Given the description of an element on the screen output the (x, y) to click on. 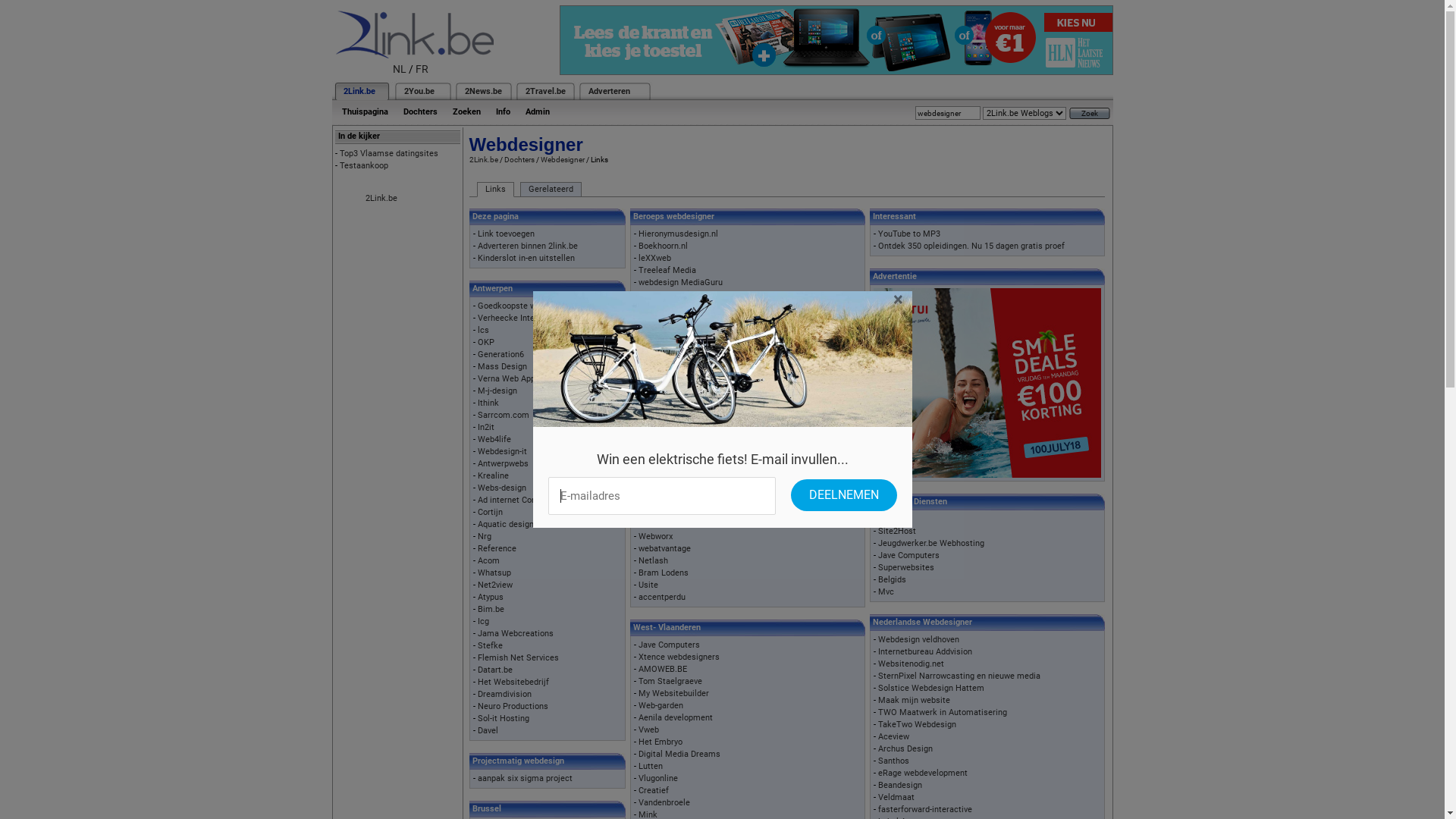
TWO Maatwerk in Automatisering Element type: text (942, 712)
Treeleaf Media Element type: text (667, 270)
Acom Element type: text (488, 560)
Ad internet Consulting Element type: text (519, 500)
2You.be Element type: text (418, 91)
webdesign MediaGuru Element type: text (680, 282)
Digital Media Dreams Element type: text (679, 754)
2News.be Element type: text (482, 91)
Neuro Productions Element type: text (512, 706)
Whatsup Element type: text (494, 572)
Aquatic design Element type: text (505, 524)
Generation6 Element type: text (500, 354)
Cortijn Element type: text (489, 512)
Gerelateerd Element type: text (550, 189)
Vandenbroele Element type: text (664, 802)
In2it Element type: text (485, 427)
AMOWEB.BE Element type: text (662, 669)
Original design Element type: text (666, 402)
Vweb Element type: text (648, 729)
Nrg Element type: text (484, 536)
Pixel Design Element type: text (661, 512)
Jeugdwerker.be Webhosting Element type: text (931, 543)
2Link.be Element type: text (358, 91)
Net2view Element type: text (494, 584)
Egonpas Element type: text (654, 500)
TakeTwo Webdesign Element type: text (917, 724)
Solstice Webdesign Hattem Element type: text (931, 688)
Web4life Element type: text (494, 439)
Goedkoopste website Element type: text (518, 305)
Agx Element type: text (645, 439)
2Travel.be Element type: text (544, 91)
Web-garden Element type: text (660, 705)
Bram Lodens Element type: text (663, 572)
Usite Element type: text (648, 584)
ZZP Webdesigner Element type: text (672, 294)
Zoek Element type: text (1089, 113)
Jere Element type: text (886, 519)
Top3 Vlaamse datingsites Element type: text (388, 153)
Aceview Element type: text (893, 736)
Webs-design Element type: text (501, 487)
SternPixel Narrowcasting en nieuwe media Element type: text (959, 675)
Antwerpwebs Element type: text (502, 463)
Reference Element type: text (496, 548)
webatvantage Element type: text (664, 548)
fasterforward-interactive Element type: text (925, 809)
Adverteren Element type: text (609, 91)
lcs Element type: text (483, 330)
Datart.be Element type: text (494, 669)
Webdesigner Element type: text (561, 159)
Webworx Element type: text (655, 536)
Boekhoorn.nl Element type: text (662, 246)
Ontdek 350 opleidingen. Nu 15 dagen gratis proef Element type: text (971, 246)
eRage webdevelopment Element type: text (922, 773)
Santhos Element type: text (893, 760)
P2 websites Element type: text (661, 342)
Chilli Multimedia Element type: text (670, 390)
Het Embryo Element type: text (660, 741)
Dreamdivision Element type: text (504, 694)
Hieronymusdesign.nl Element type: text (678, 233)
Jama Webcreations Element type: text (515, 633)
Sarrcom.com Element type: text (503, 415)
leXXweb Element type: text (654, 258)
Mixette Element type: text (652, 378)
Internetbureau Addvision Element type: text (925, 651)
Het Websitebedrijf Element type: text (513, 682)
Creatief Element type: text (653, 790)
Mvc Element type: text (886, 591)
Netlash Element type: text (653, 560)
Maak mijn website Element type: text (914, 700)
accentperdu Element type: text (661, 597)
Mass Design Element type: text (502, 366)
NL Element type: text (399, 68)
Webdesign veldhoven Element type: text (918, 639)
Amazing Things Element type: text (668, 451)
Ithink Element type: text (487, 402)
Xtence webdesigners Element type: text (678, 657)
Dochters Element type: text (518, 159)
M-j-design Element type: text (497, 390)
My Websitebuilder Element type: text (673, 693)
Sol-it Hosting Element type: text (503, 718)
Bim.be Element type: text (490, 609)
Beandesign Element type: text (900, 785)
YouTube to MP3 Element type: text (909, 233)
Dochters Element type: text (420, 111)
Dynamic Arts Element type: text (663, 427)
Belgids Element type: text (892, 579)
J&d-systems Element type: text (662, 463)
Tom Staelgraeve Element type: text (670, 681)
Verna Web Applications Element type: text (522, 378)
Get Pooler Element type: text (658, 524)
Aenila development Element type: text (675, 717)
2Link.be Element type: text (482, 159)
Jave Computers Element type: text (668, 644)
DSE-GENT Element type: text (657, 354)
Testaankoop Element type: text (363, 165)
Archus Design Element type: text (905, 748)
Verheecke Internet Services Element type: text (530, 318)
Komunika Element type: text (657, 366)
Vlugonline Element type: text (657, 778)
Lutten Element type: text (650, 766)
Webdesign-it Element type: text (502, 451)
2Link.be Element type: text (381, 198)
OKP Element type: text (485, 342)
Links Element type: text (494, 189)
Zoeken Element type: text (465, 111)
Davel Element type: text (487, 730)
Flemish Net Services Element type: text (517, 657)
Link toevoegen Element type: text (505, 233)
Veldmaat Element type: text (896, 797)
Site2Host Element type: text (897, 531)
FR Element type: text (421, 68)
Info Element type: text (502, 111)
Atypus Element type: text (490, 597)
Admin Element type: text (536, 111)
Adverteren binnen 2link.be Element type: text (527, 246)
My websitebuilder Element type: text (672, 415)
Websitenodig.net Element type: text (911, 663)
Superwebsites Element type: text (906, 567)
Stefke Element type: text (489, 645)
Thuispagina Element type: text (364, 111)
Jave Computers Element type: text (908, 555)
Jaan-webdevelopment Element type: text (680, 487)
Kinderslot in-en uitstellen Element type: text (525, 258)
Icg Element type: text (483, 621)
Krealine Element type: text (492, 475)
Silver-ware Element type: text (659, 475)
aanpak six sigma project Element type: text (524, 778)
